Given the description of an element on the screen output the (x, y) to click on. 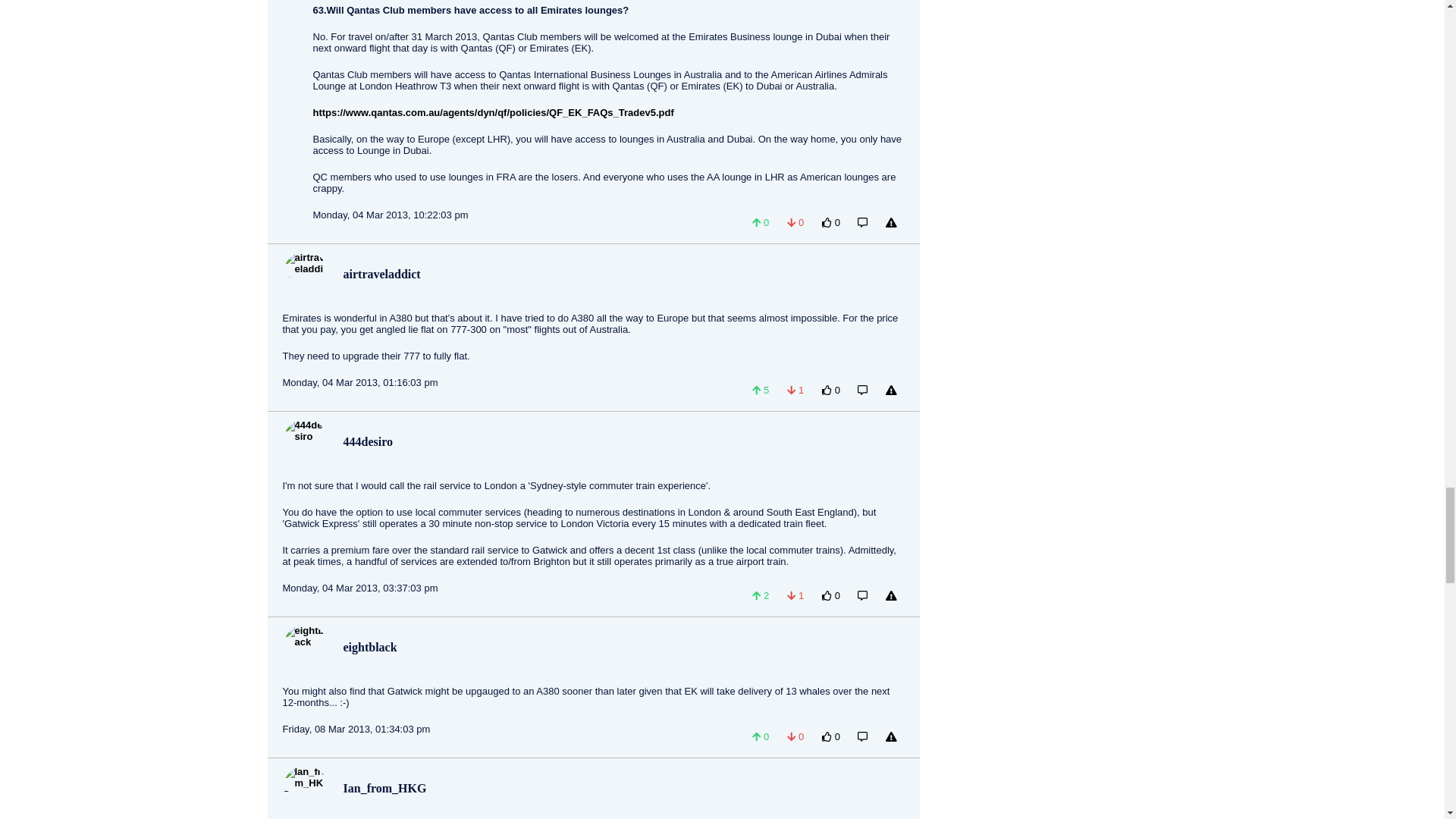
Like (760, 222)
